Given the description of an element on the screen output the (x, y) to click on. 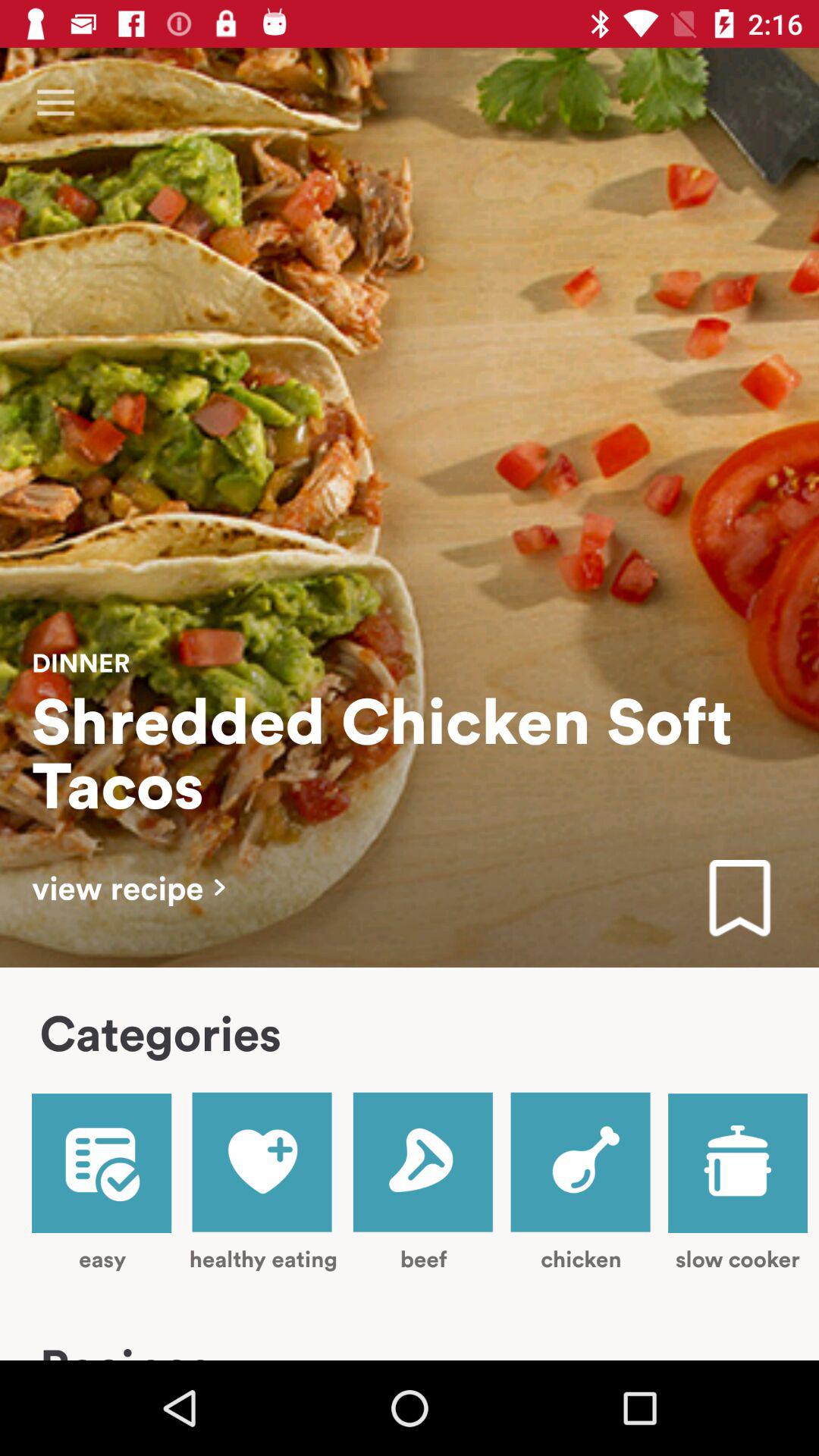
open the slow cooker icon (737, 1182)
